Given the description of an element on the screen output the (x, y) to click on. 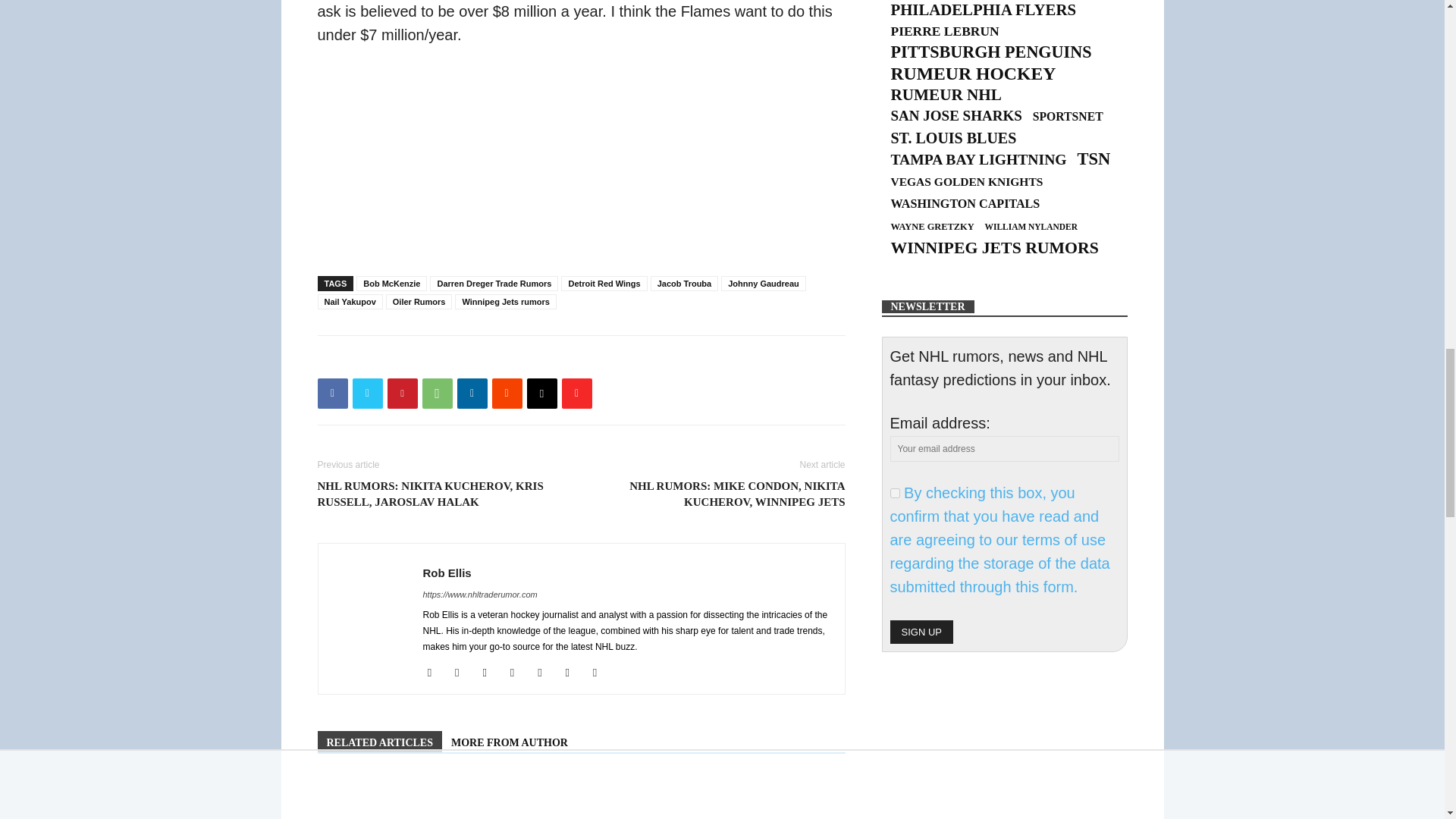
1 (894, 492)
Sign up (921, 631)
